Given the description of an element on the screen output the (x, y) to click on. 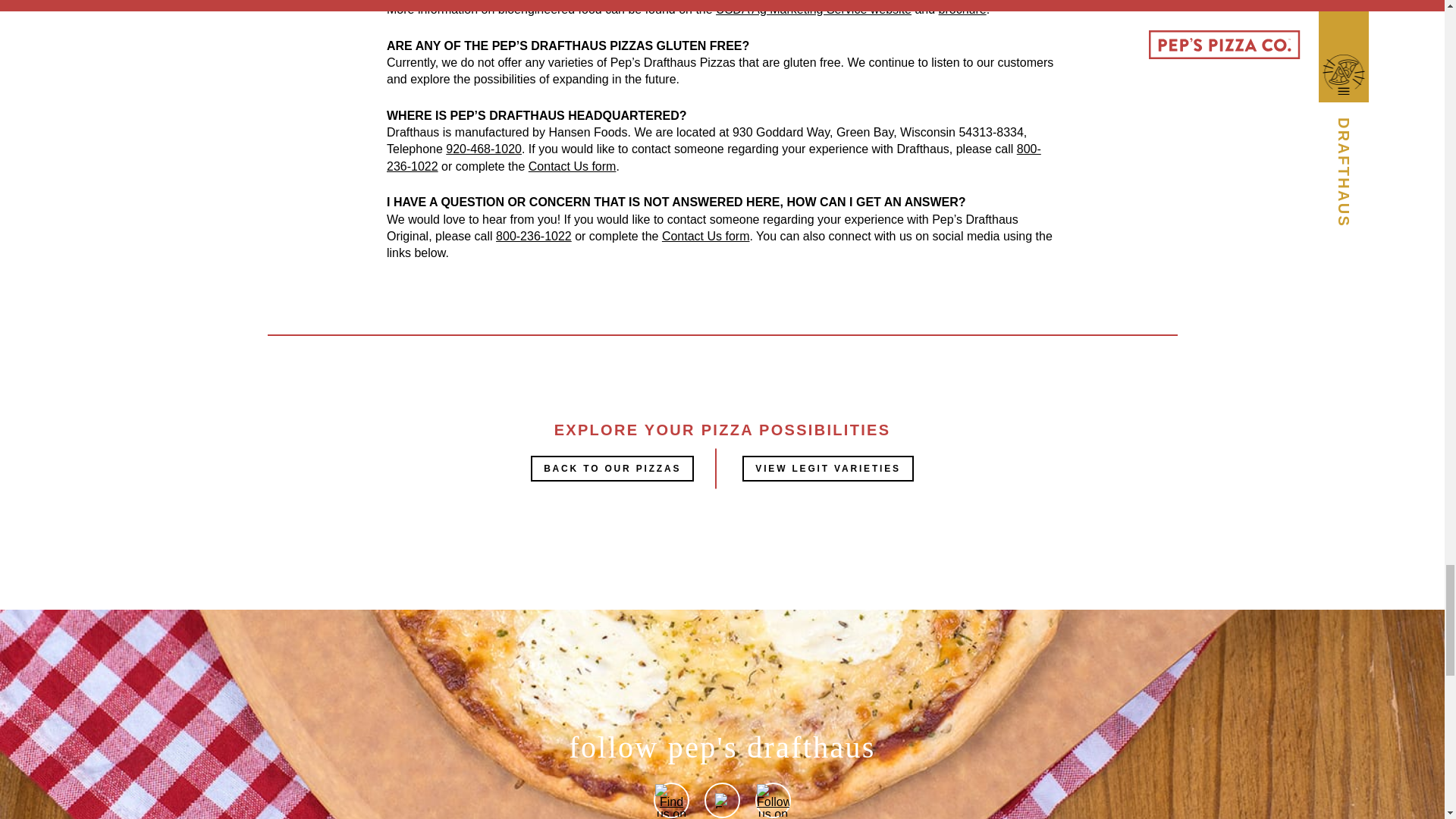
Contact Us (705, 236)
Contact Us form (571, 165)
Follow us on Instagram (773, 799)
brochure (963, 9)
Find us on Facebook (671, 799)
USDA Ag Marketing Service website (813, 9)
Follow us on Twitter (722, 800)
800-236-1022 (534, 236)
920-468-1020 (483, 148)
800-236-1022 (714, 156)
